Given the description of an element on the screen output the (x, y) to click on. 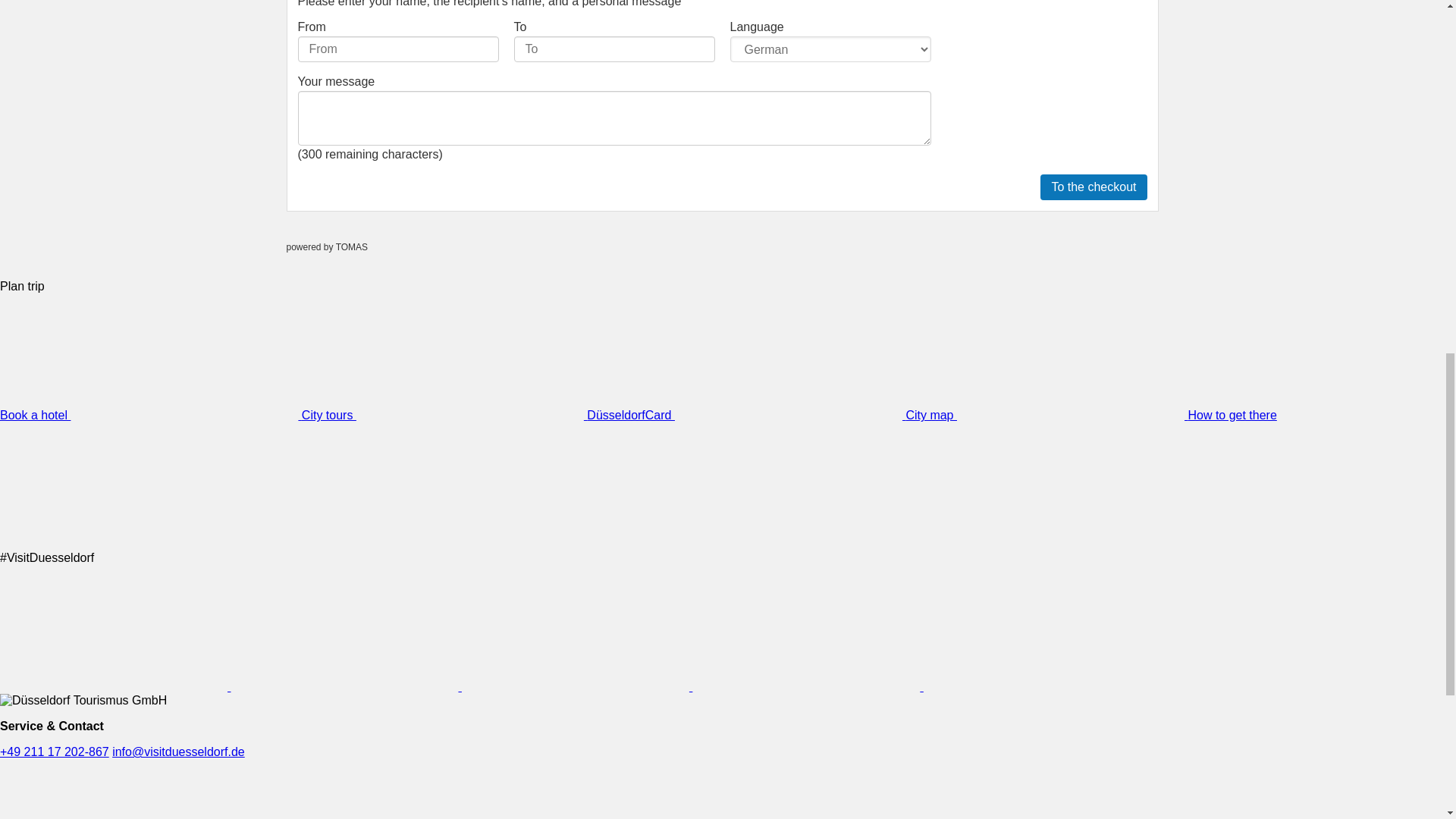
To the checkout (1094, 186)
To the checkout (1094, 186)
City tours (443, 414)
back to top (1409, 18)
Book a hotel (150, 414)
City map (1046, 414)
